Given the description of an element on the screen output the (x, y) to click on. 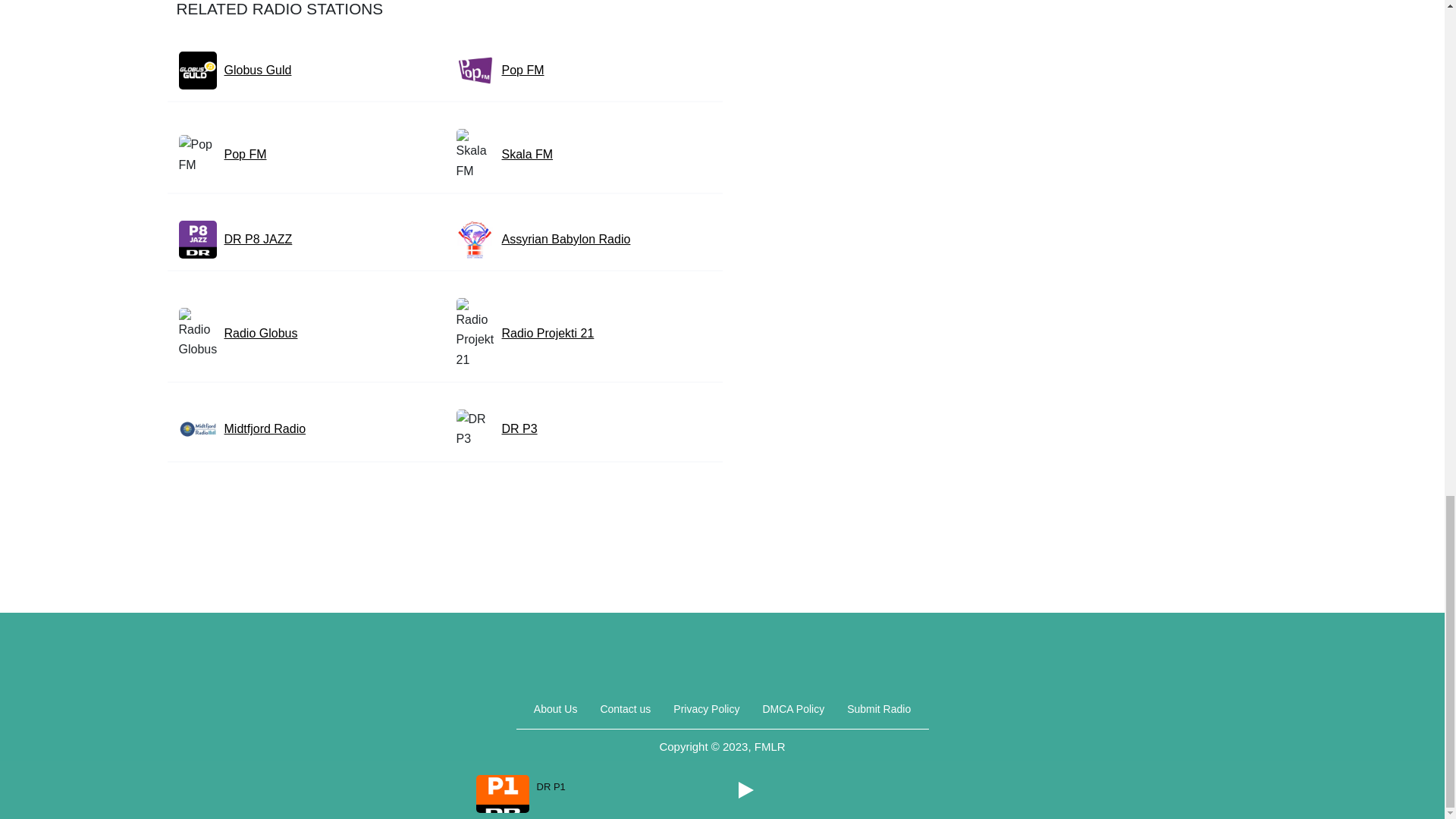
Pop FM (523, 70)
Skala FM (527, 154)
Radio Projekti 21 (548, 333)
Assyrian Babylon Radio (566, 239)
Radio Globus (261, 333)
DR P8 JAZZ (258, 239)
Pop FM (245, 154)
Globus Guld (258, 70)
Midtfjord Radio (264, 428)
DR P3 (519, 428)
